Given the description of an element on the screen output the (x, y) to click on. 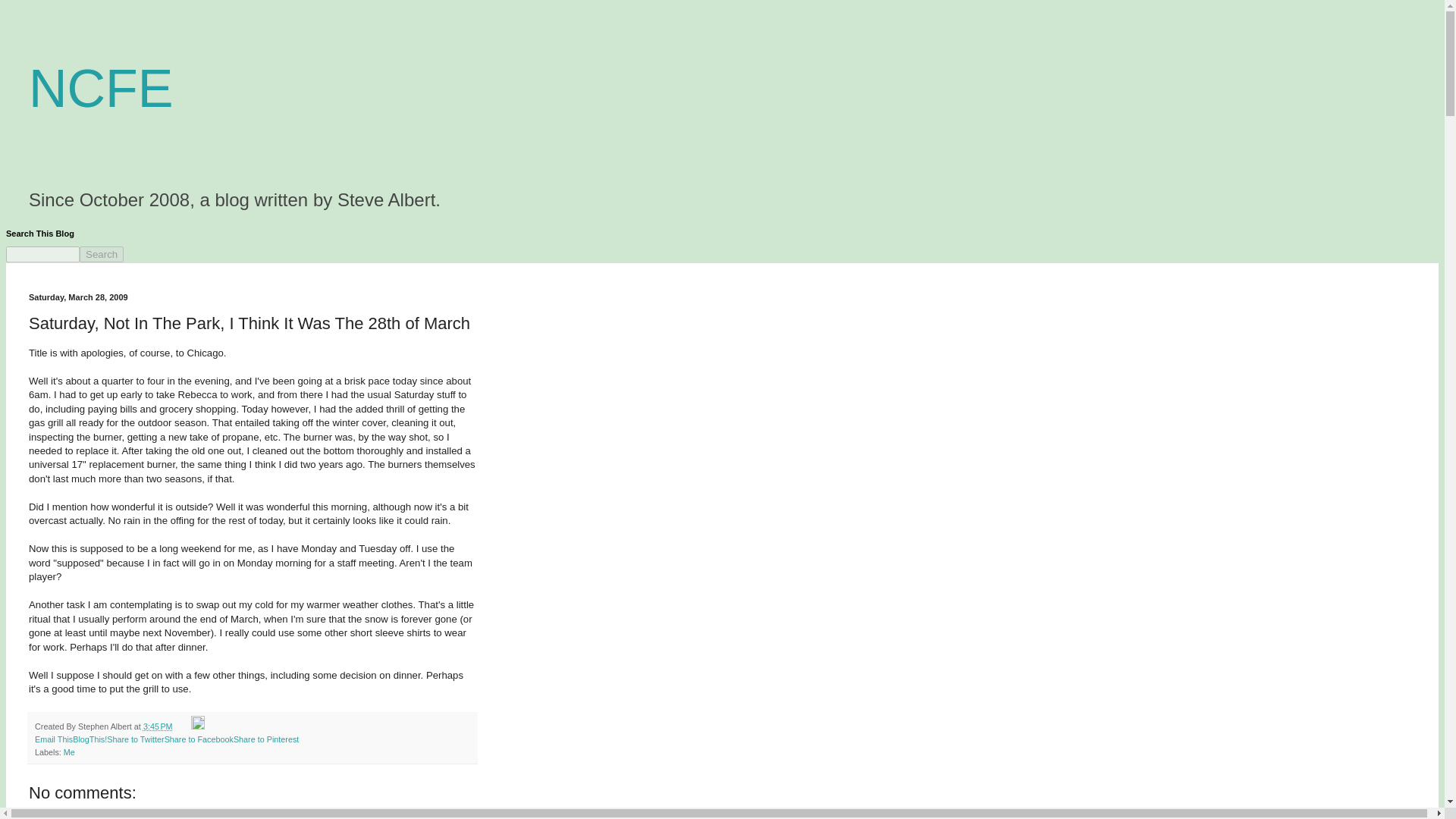
Edit Post (197, 726)
Share to Facebook (198, 738)
BlogThis! (89, 738)
search (42, 254)
Email This (53, 738)
Share to Twitter (134, 738)
Post a Comment (62, 815)
BlogThis! (89, 738)
Share to Twitter (134, 738)
NCFE (101, 87)
Search (101, 254)
Me (69, 751)
Search (101, 254)
Email Post (182, 726)
Search (101, 254)
